Given the description of an element on the screen output the (x, y) to click on. 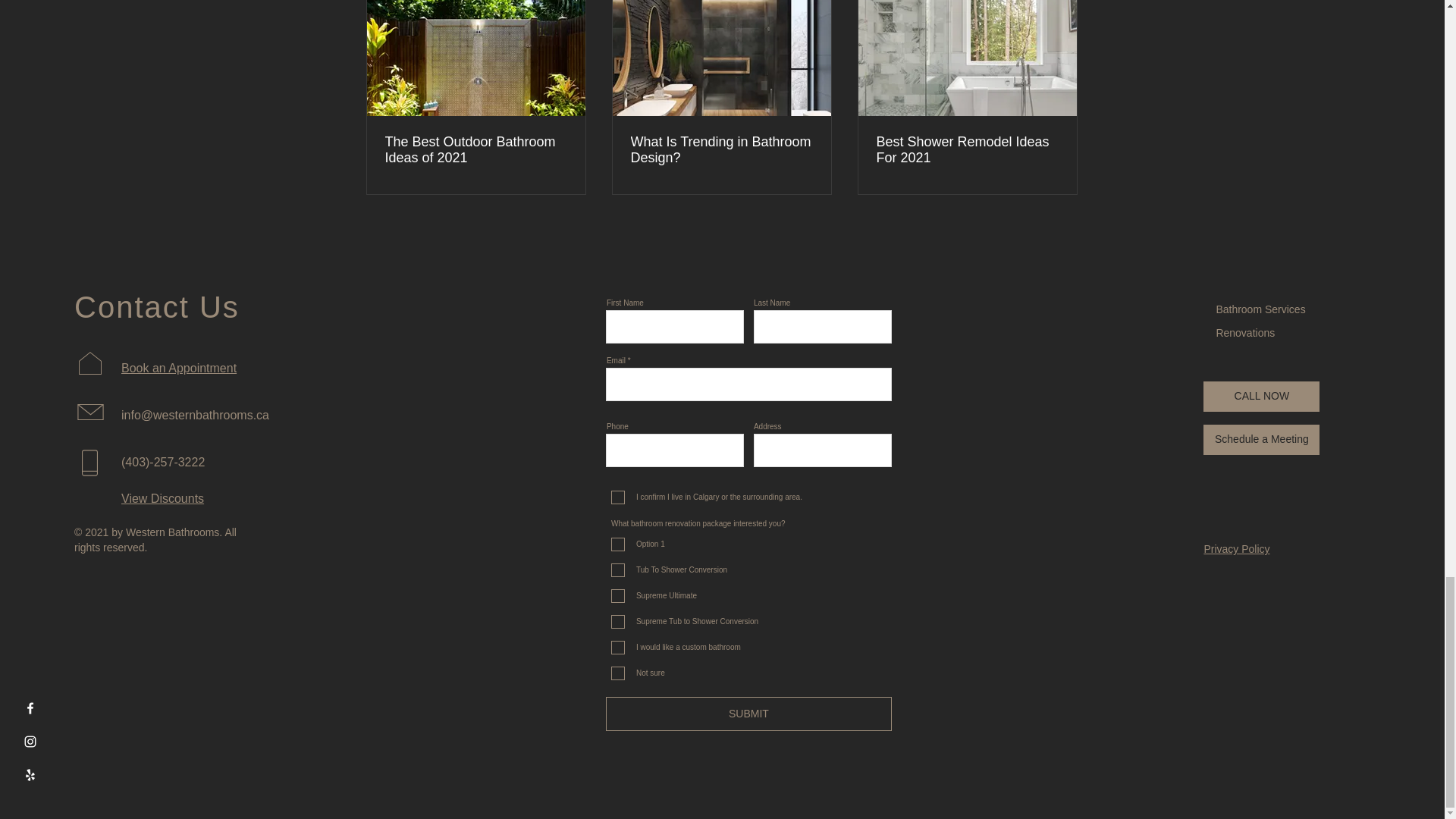
What Is Trending in Bathroom Design? (721, 150)
Best Shower Remodel Ideas For 2021 (967, 150)
The Best Outdoor Bathroom Ideas of 2021 (476, 150)
